Given the description of an element on the screen output the (x, y) to click on. 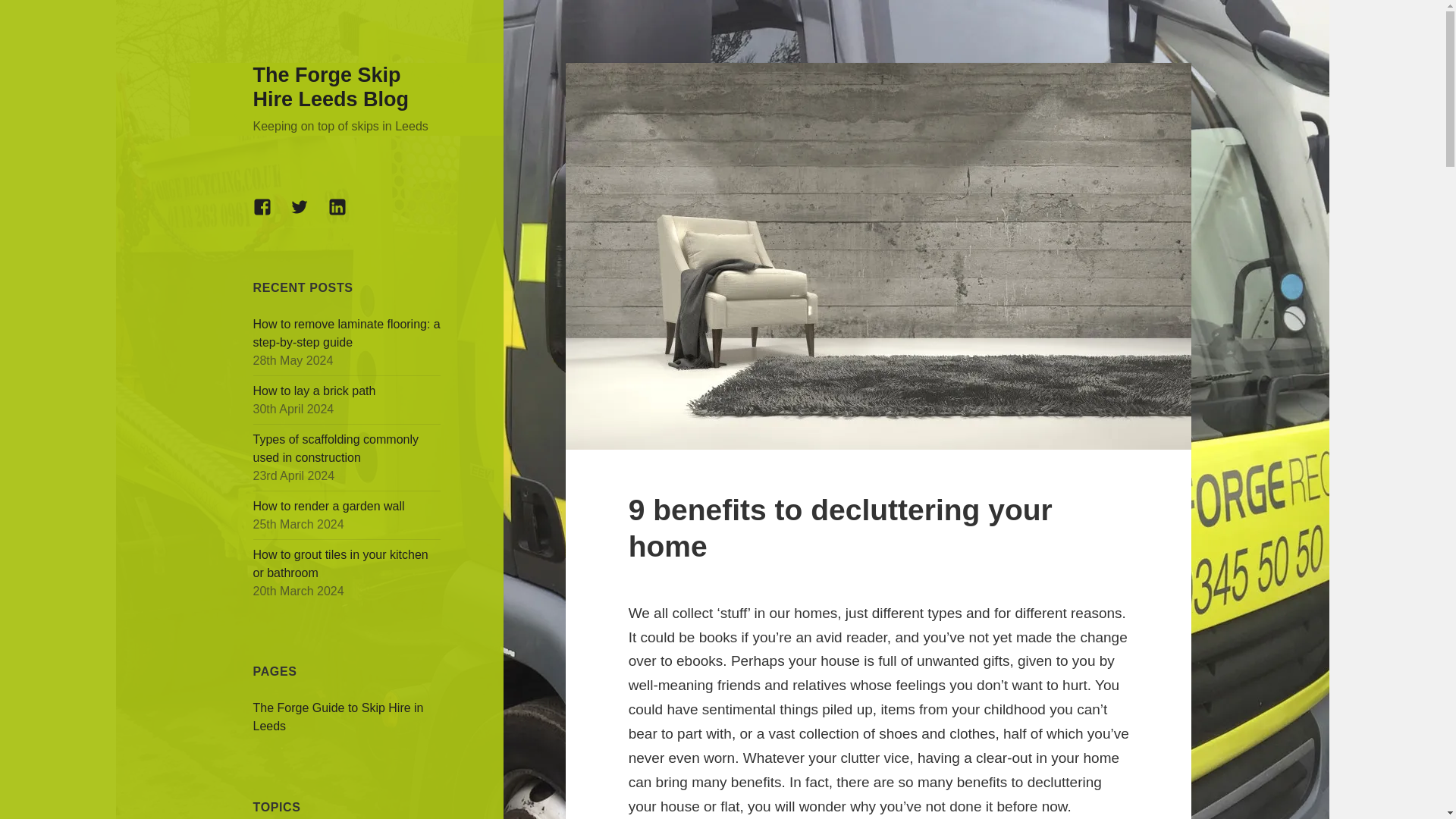
How to grout tiles in your kitchen or bathroom (340, 563)
The Forge Skip Hire Leeds Blog (331, 86)
How to render a garden wall (328, 505)
How to lay a brick path (314, 390)
How to remove laminate flooring: a step-by-step guide (347, 332)
Twitter (307, 216)
LinkedIn (347, 216)
Types of scaffolding commonly used in construction (336, 448)
The Forge Guide to Skip Hire in Leeds (338, 716)
Facebook (271, 216)
